Given the description of an element on the screen output the (x, y) to click on. 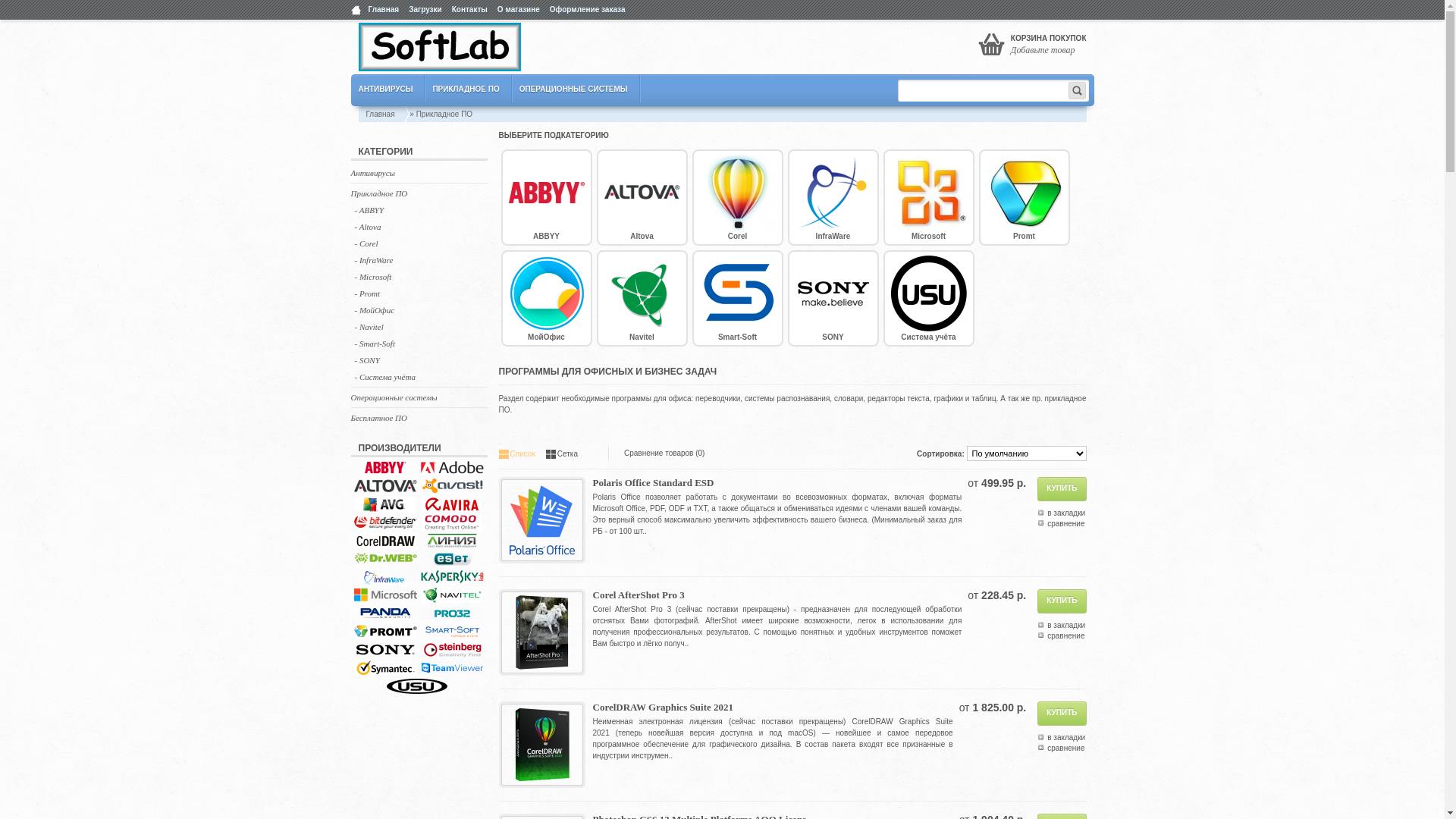
- Smart-Soft Element type: text (415, 343)
ABBYY Element type: text (545, 197)
Promt Element type: hover (385, 631)
- Promt Element type: text (415, 293)
Smart-Soft Element type: hover (451, 631)
Polaris Office Standard ESD Element type: text (653, 482)
- Altova Element type: text (415, 226)
ESET NOD32 Element type: hover (451, 558)
Corel AfterShot Pro 3 Element type: hover (542, 632)
USU Element type: hover (416, 685)
- Microsoft Element type: text (415, 276)
- ABBYY Element type: text (415, 209)
- Navitel Element type: text (415, 326)
PRO32 Element type: hover (451, 613)
CorelDRAW Graphics Suite 2021 Element type: hover (542, 744)
Promt Element type: text (1023, 197)
Navitel Element type: text (641, 298)
TeamViewer Element type: hover (451, 667)
Adobe Element type: hover (451, 467)
InfraWare Element type: text (832, 197)
Altova Element type: text (641, 197)
Microsoft Element type: text (928, 197)
Avast Element type: hover (451, 485)
Microsoft Element type: hover (385, 594)
InfraWare Element type: hover (385, 576)
Corel Element type: text (737, 197)
Avira Element type: hover (451, 503)
AVG Element type: hover (385, 503)
BitDefender Element type: hover (385, 522)
ABBYY Element type: hover (385, 467)
SteinBerg Element type: hover (451, 649)
Corel Element type: hover (385, 540)
SoftLab.by Element type: hover (438, 46)
Panda Element type: hover (385, 613)
Symantec Norton Element type: hover (385, 667)
Doctor Web Element type: hover (385, 558)
Comodo Element type: hover (451, 522)
SONY Element type: hover (385, 649)
Navitel Element type: hover (451, 594)
- SONY Element type: text (415, 359)
Kaspersky Lab Element type: hover (451, 576)
Polaris Office Standard ESD Element type: hover (542, 520)
- InfraWare Element type: text (415, 259)
CorelDRAW Graphics Suite 2021 Element type: text (663, 706)
Altova Element type: hover (385, 485)
SONY Element type: text (832, 298)
DevLine Element type: hover (451, 540)
Corel AfterShot Pro 3 Element type: text (638, 594)
- Corel Element type: text (415, 242)
Smart-Soft Element type: text (737, 298)
